Given the description of an element on the screen output the (x, y) to click on. 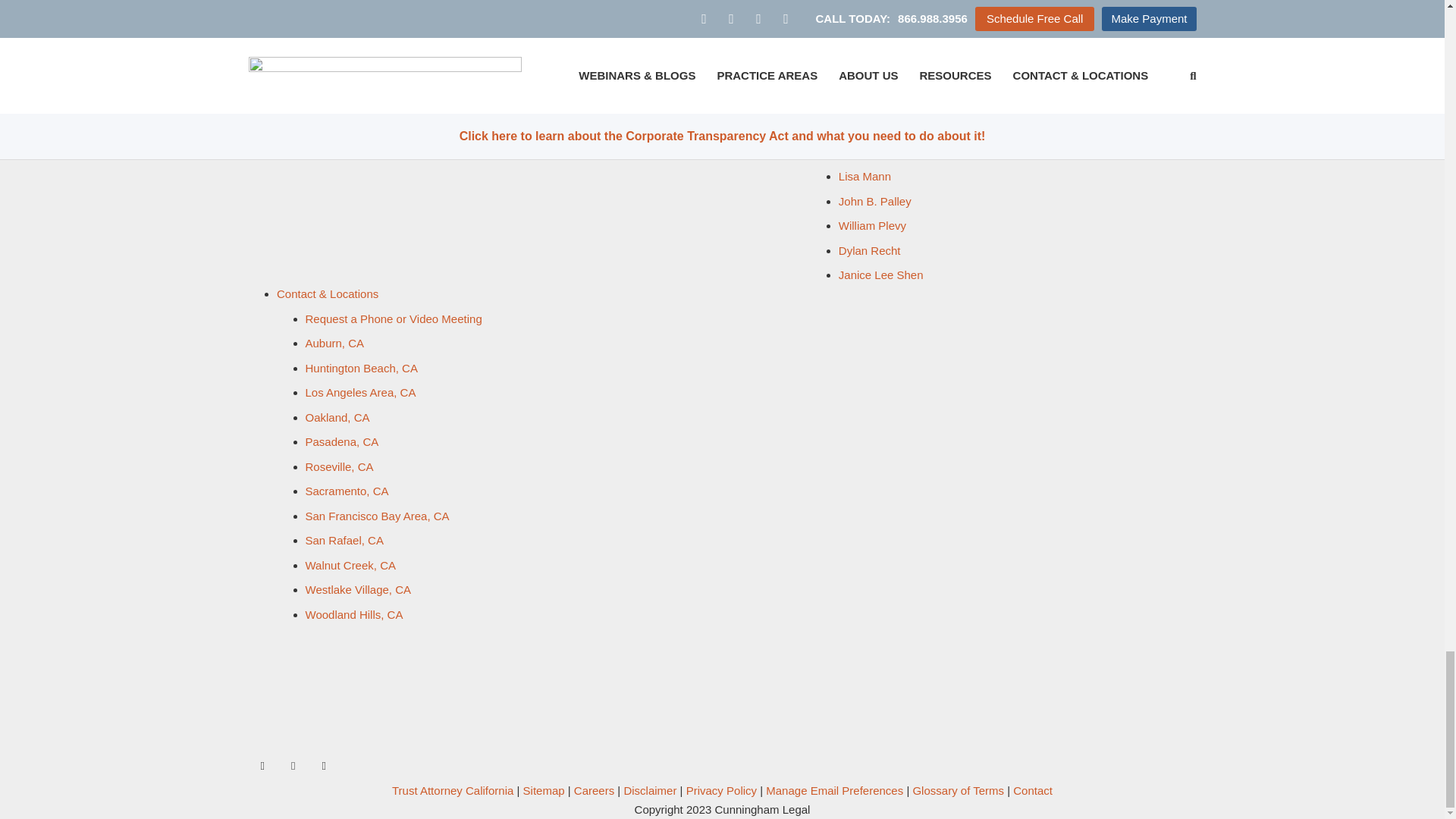
Facebook (263, 766)
LinkedIn (322, 766)
Twitter (293, 766)
